Given the description of an element on the screen output the (x, y) to click on. 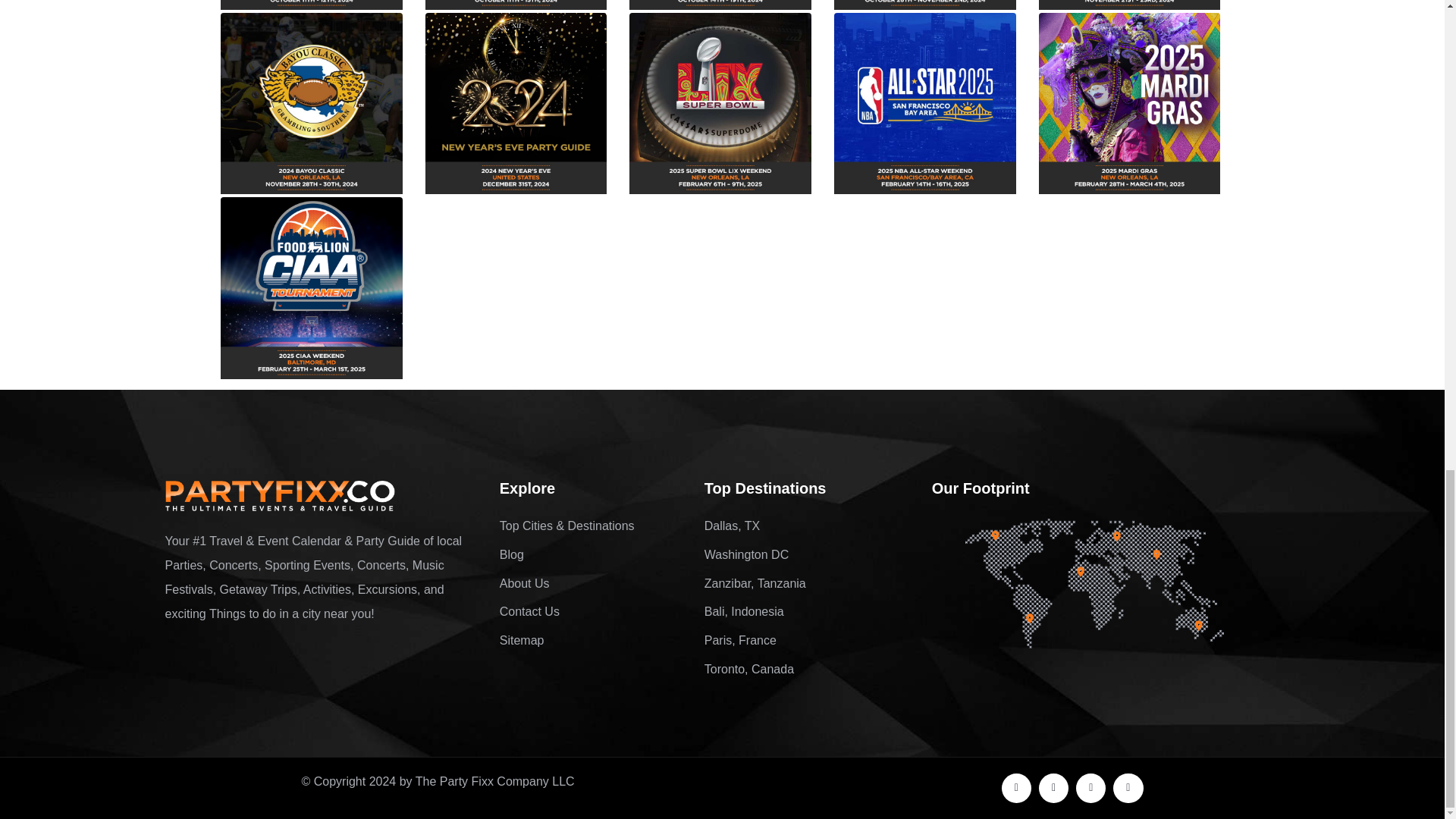
Home (279, 497)
